Given the description of an element on the screen output the (x, y) to click on. 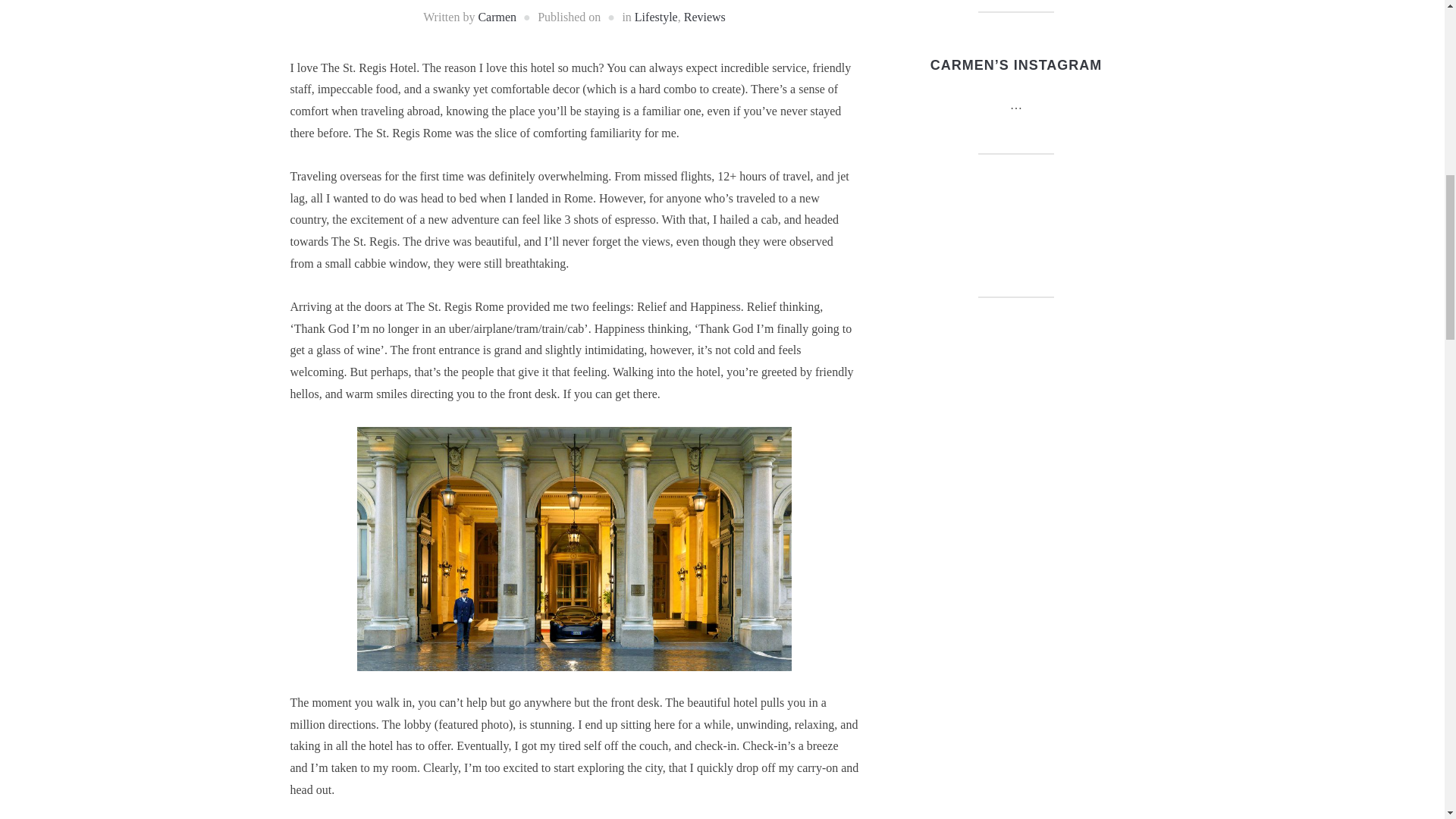
Reviews (704, 16)
Posts by Carmen (496, 16)
Carmen (496, 16)
Lifestyle (656, 16)
